Given the description of an element on the screen output the (x, y) to click on. 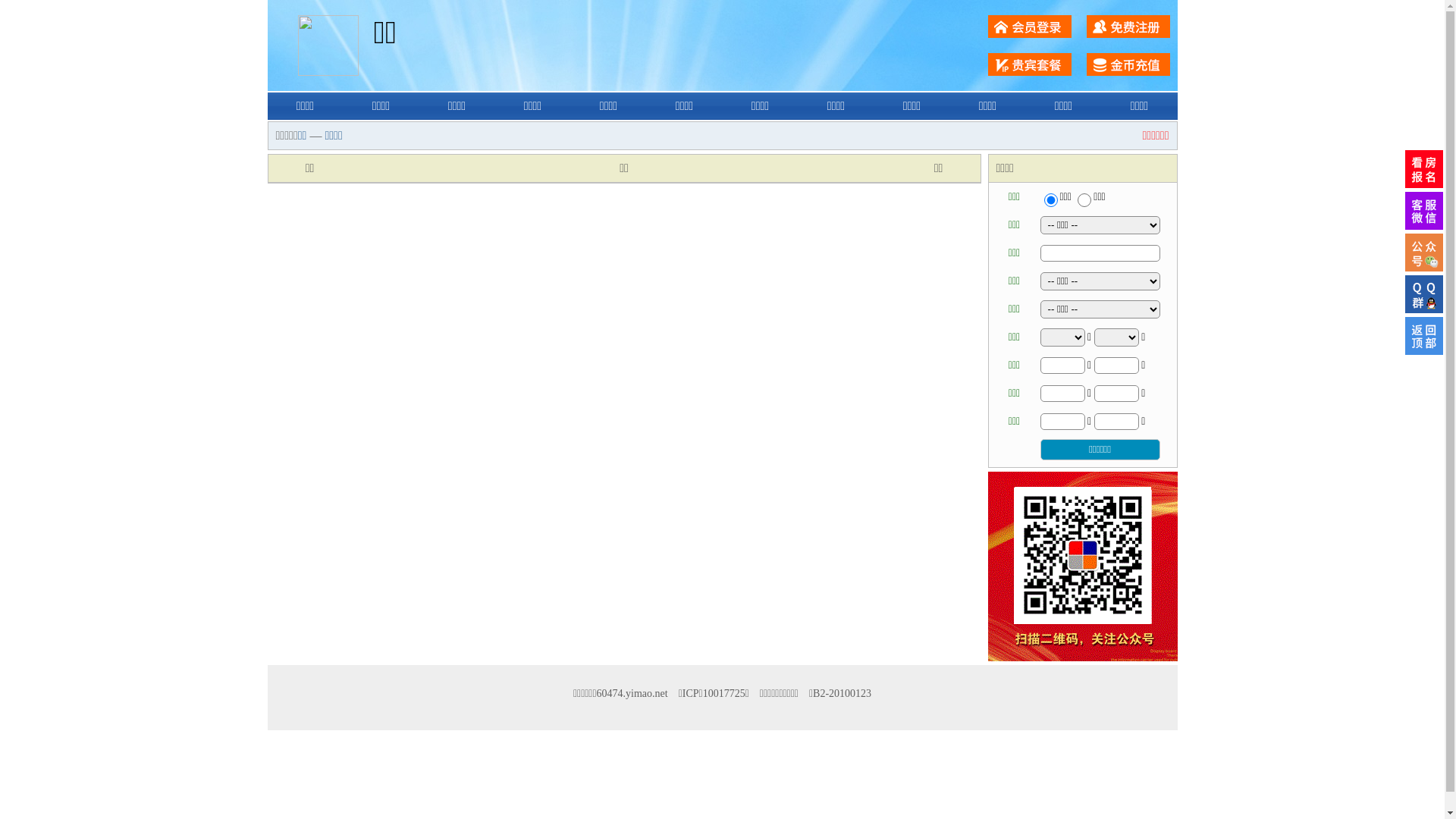
chuzu Element type: text (1084, 200)
ershou Element type: text (1050, 200)
